Given the description of an element on the screen output the (x, y) to click on. 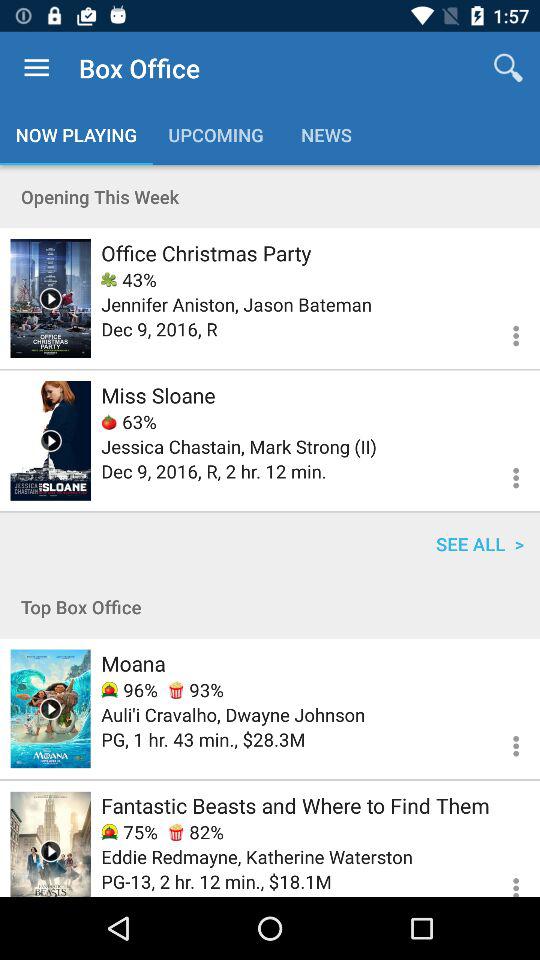
play video (50, 708)
